Given the description of an element on the screen output the (x, y) to click on. 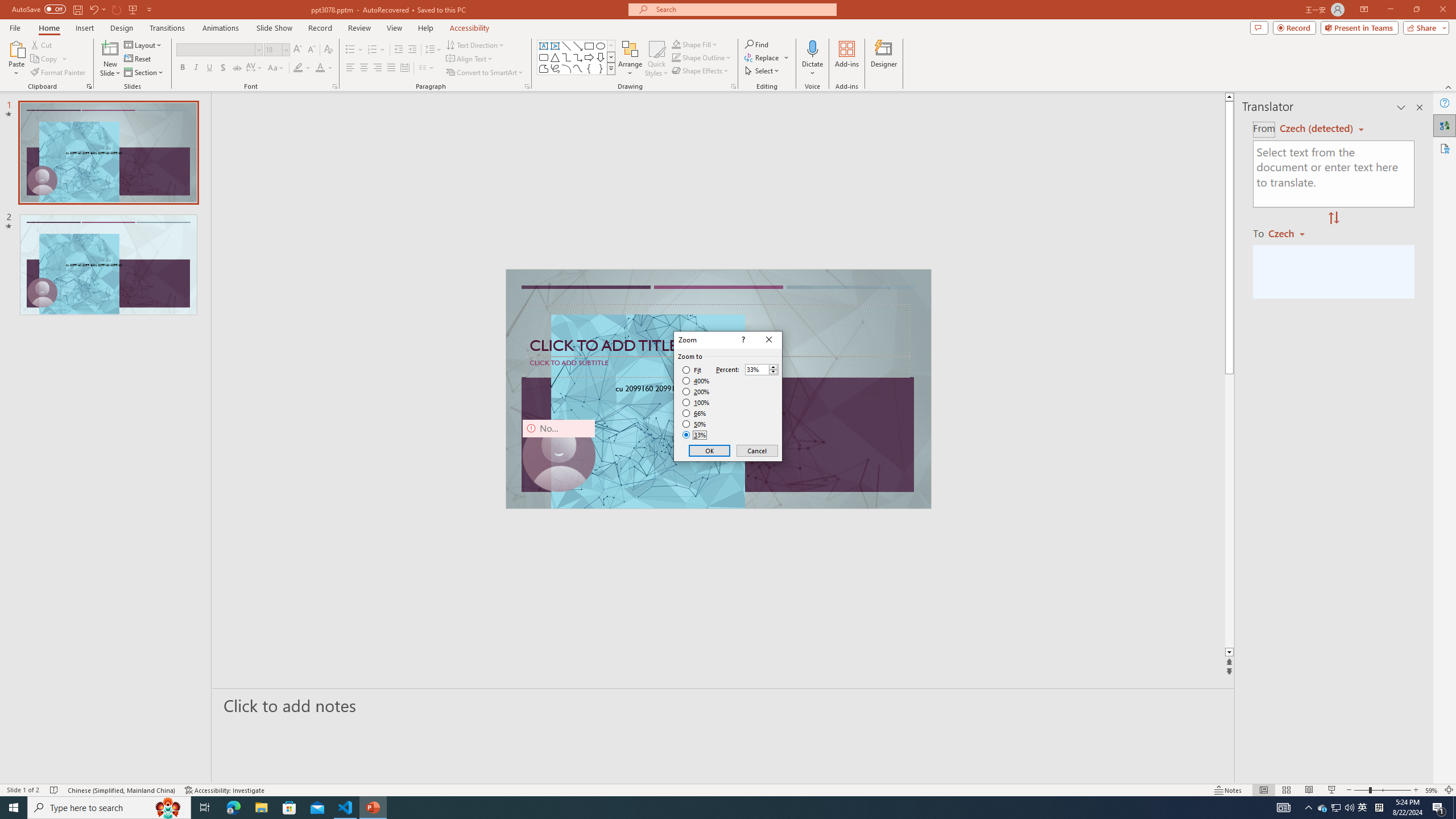
Fit (691, 370)
Camera 9, No camera detected. (558, 455)
Czech (1291, 232)
Action Center, 1 new notification (1439, 807)
Cancel (756, 450)
Czech (detected) (1317, 128)
33% (694, 434)
